Given the description of an element on the screen output the (x, y) to click on. 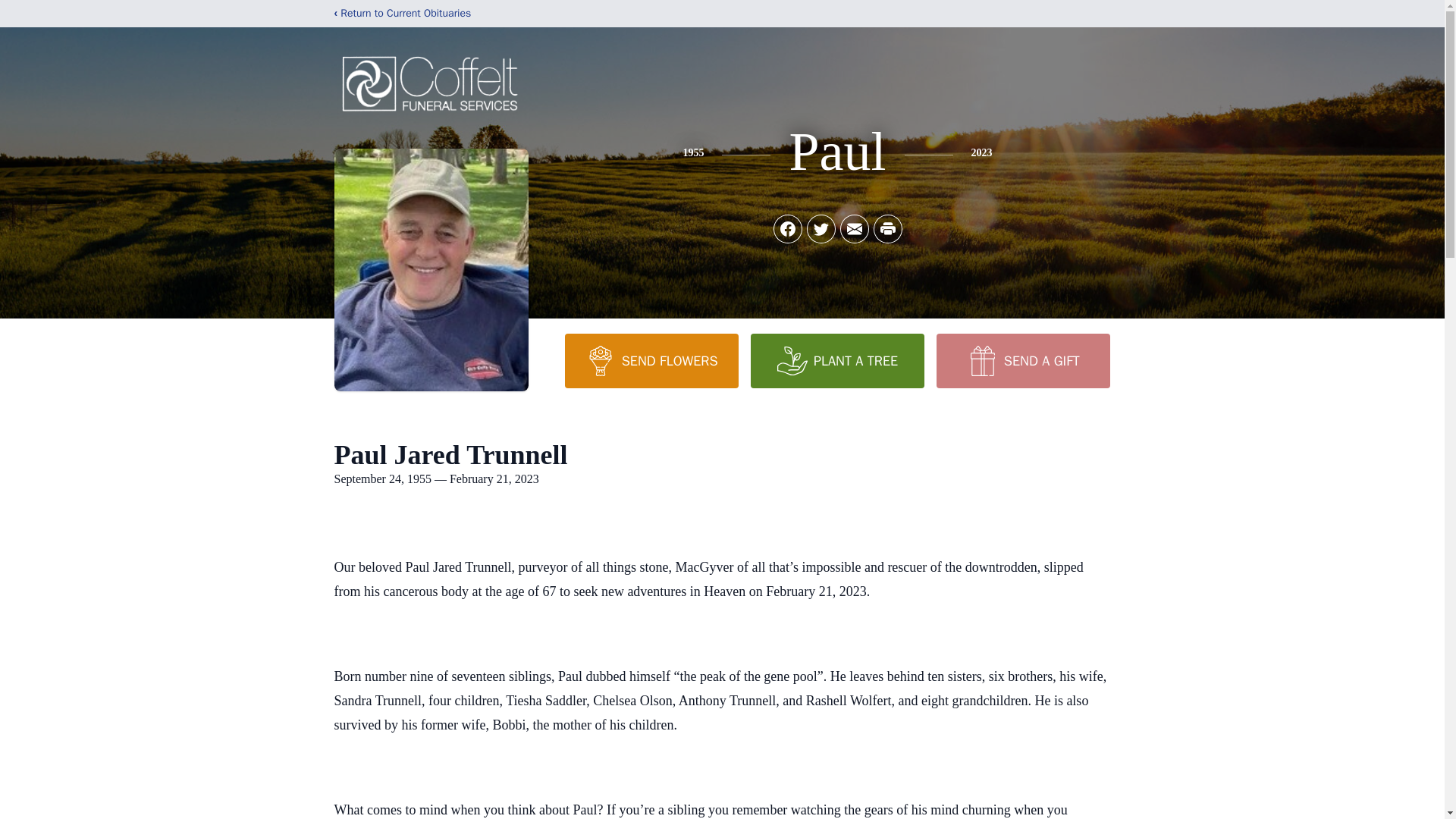
PLANT A TREE (837, 360)
SEND A GIFT (1022, 360)
SEND FLOWERS (651, 360)
